Given the description of an element on the screen output the (x, y) to click on. 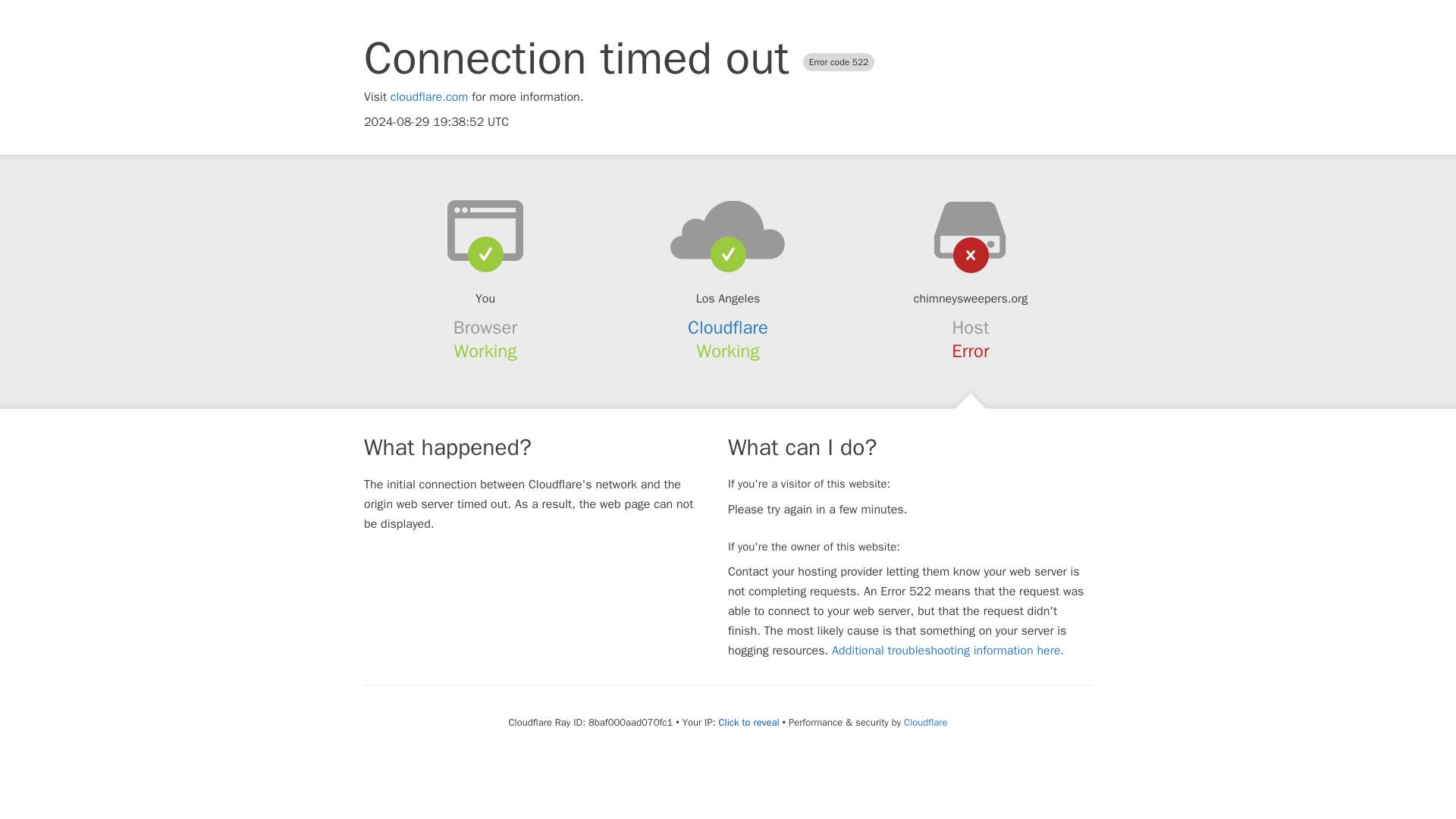
Cloudflare (925, 721)
Cloudflare (727, 327)
Additional troubleshooting information here. (947, 650)
cloudflare.com (429, 96)
Click to reveal (748, 722)
